Given the description of an element on the screen output the (x, y) to click on. 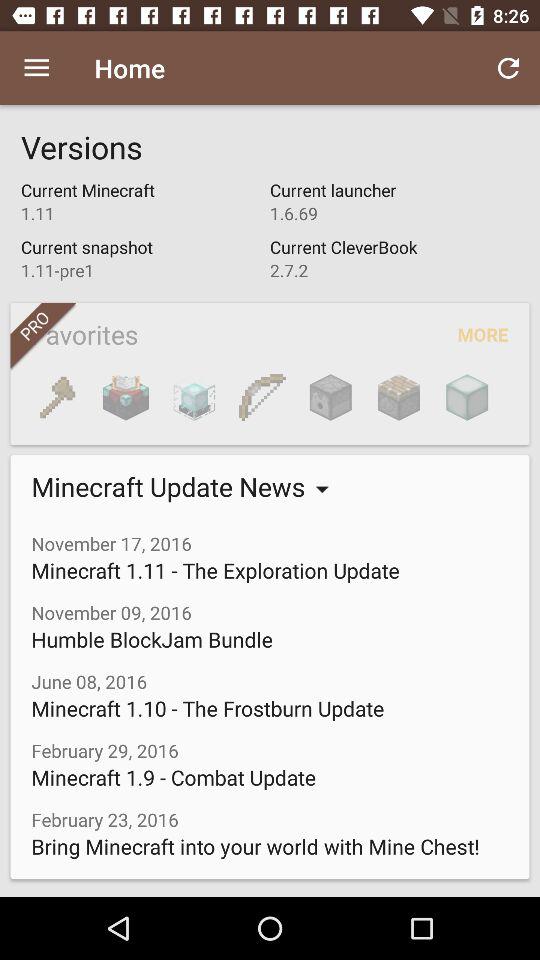
add item (194, 397)
